Given the description of an element on the screen output the (x, y) to click on. 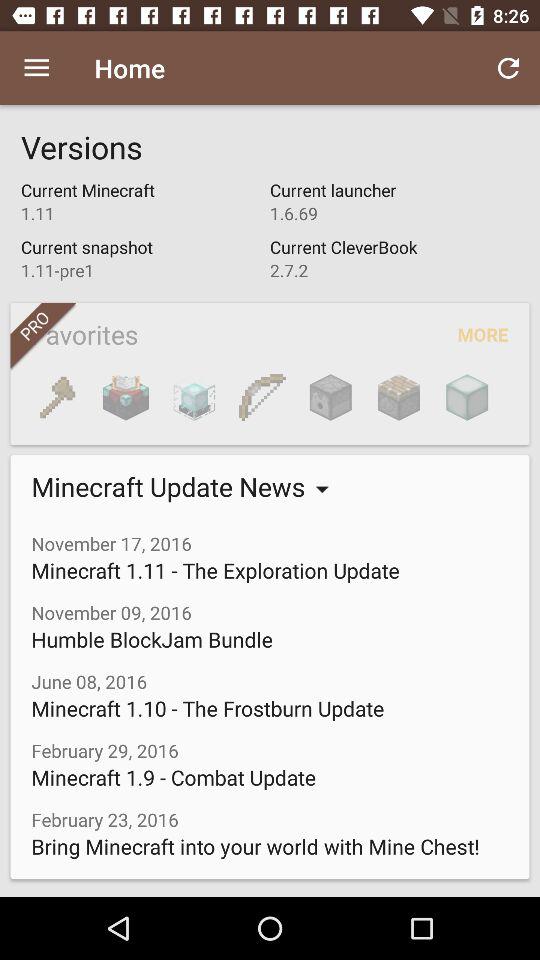
add item (194, 397)
